Given the description of an element on the screen output the (x, y) to click on. 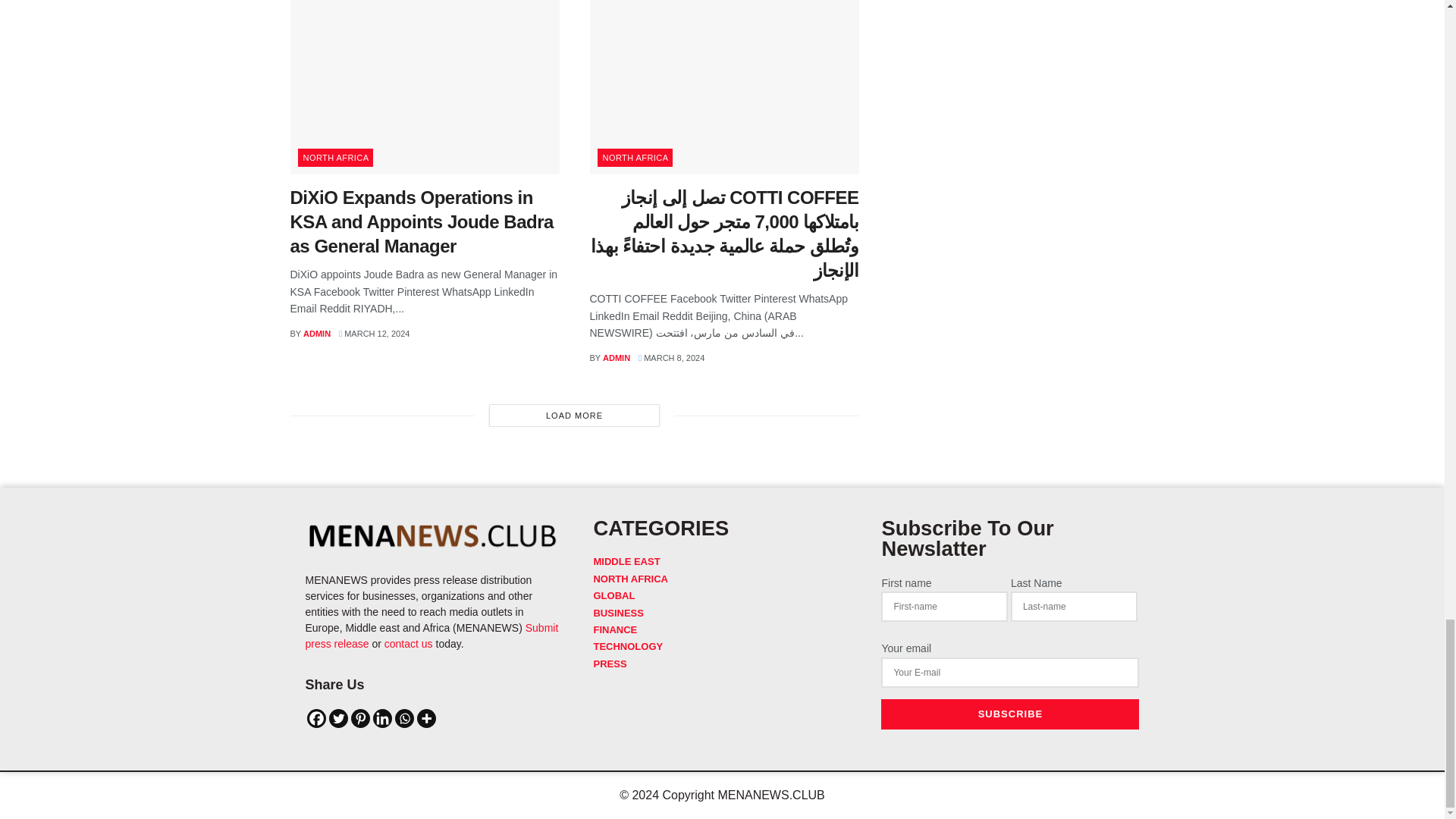
Linkedin (381, 718)
Whatsapp (403, 718)
Facebook (314, 718)
Twitter (338, 718)
More (425, 718)
Pinterest (359, 718)
Subscribe (1009, 714)
